Given the description of an element on the screen output the (x, y) to click on. 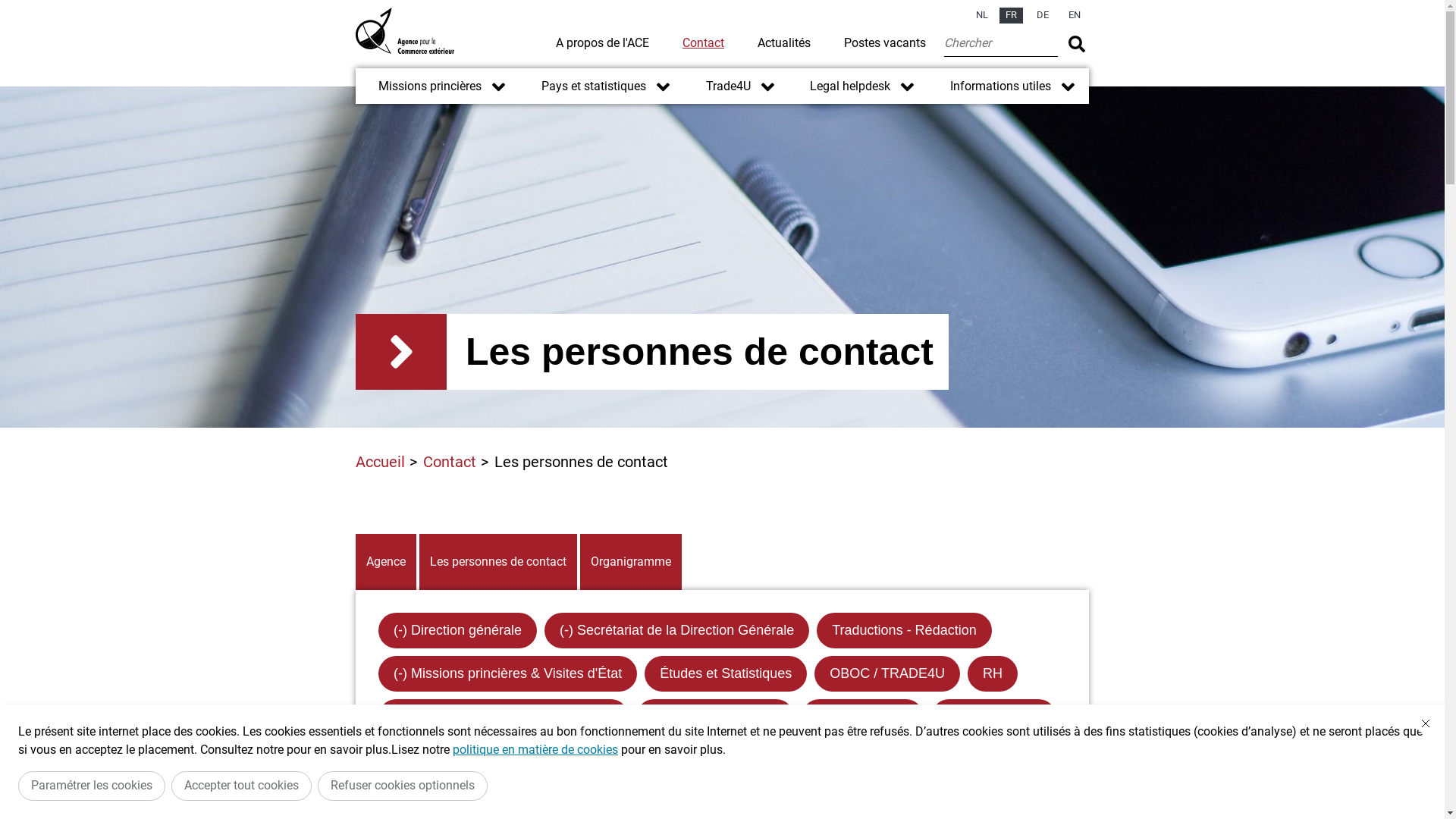
A propos de l'ACE Element type: text (602, 42)
Contact Element type: text (703, 42)
Agence Element type: text (385, 561)
Postes vacants Element type: text (884, 42)
Open submenu Element type: text (498, 85)
RH Element type: text (992, 673)
Fermer Element type: hover (1425, 723)
DE Element type: text (1042, 15)
Trade4U Element type: text (715, 85)
Informations utiles Element type: text (989, 85)
OBOC / TRADE4U Element type: text (887, 673)
Organigramme Element type: text (630, 561)
Communication Element type: text (993, 716)
Conception graphique Element type: text (460, 760)
Legal helpdesk Element type: text (862, 716)
NL Element type: text (981, 15)
Les personnes de contact Element type: text (498, 561)
Refuser cookies optionnels Element type: text (402, 785)
Contact Element type: text (449, 461)
Accepter tout cookies Element type: text (241, 785)
Accueil Element type: text (379, 461)
ALLER AU CONTENU PRINCIPAL Element type: text (721, 7)
Pays et statistiques Element type: text (582, 85)
EN Element type: text (1074, 15)
Legal helpdesk Element type: text (838, 85)
Open submenu Element type: text (662, 85)
Apply Element type: text (1076, 43)
Open submenu Element type: text (906, 85)
ICT Element type: text (575, 760)
Open submenu Element type: text (767, 85)
Open submenu Element type: text (1067, 85)
FR Element type: text (1010, 15)
